Given the description of an element on the screen output the (x, y) to click on. 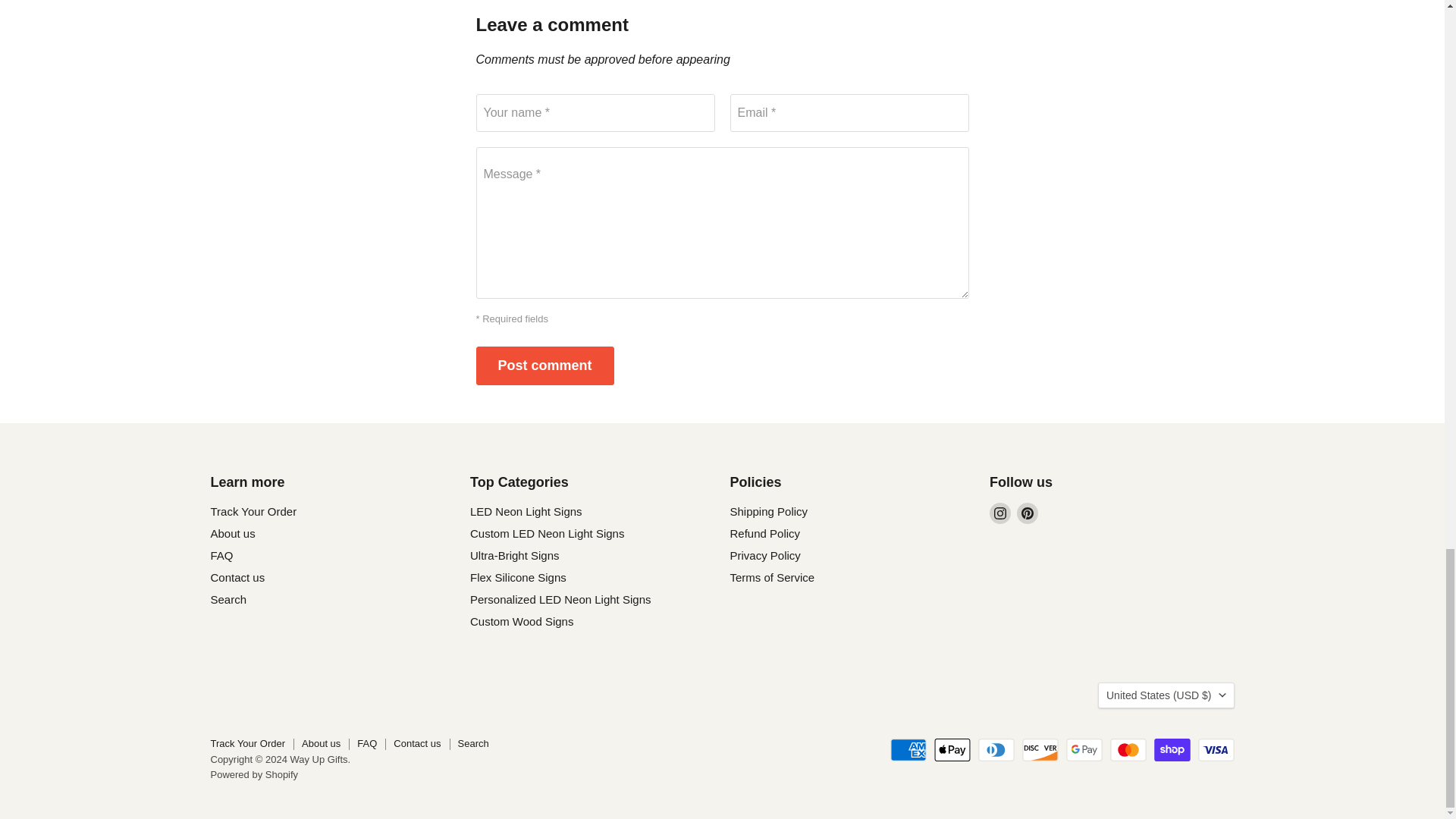
Apple Pay (952, 749)
Discover (1040, 749)
Pinterest (1027, 513)
Google Pay (1083, 749)
Mastercard (1128, 749)
Shop Pay (1172, 749)
Instagram (1000, 513)
Diners Club (996, 749)
American Express (907, 749)
